Given the description of an element on the screen output the (x, y) to click on. 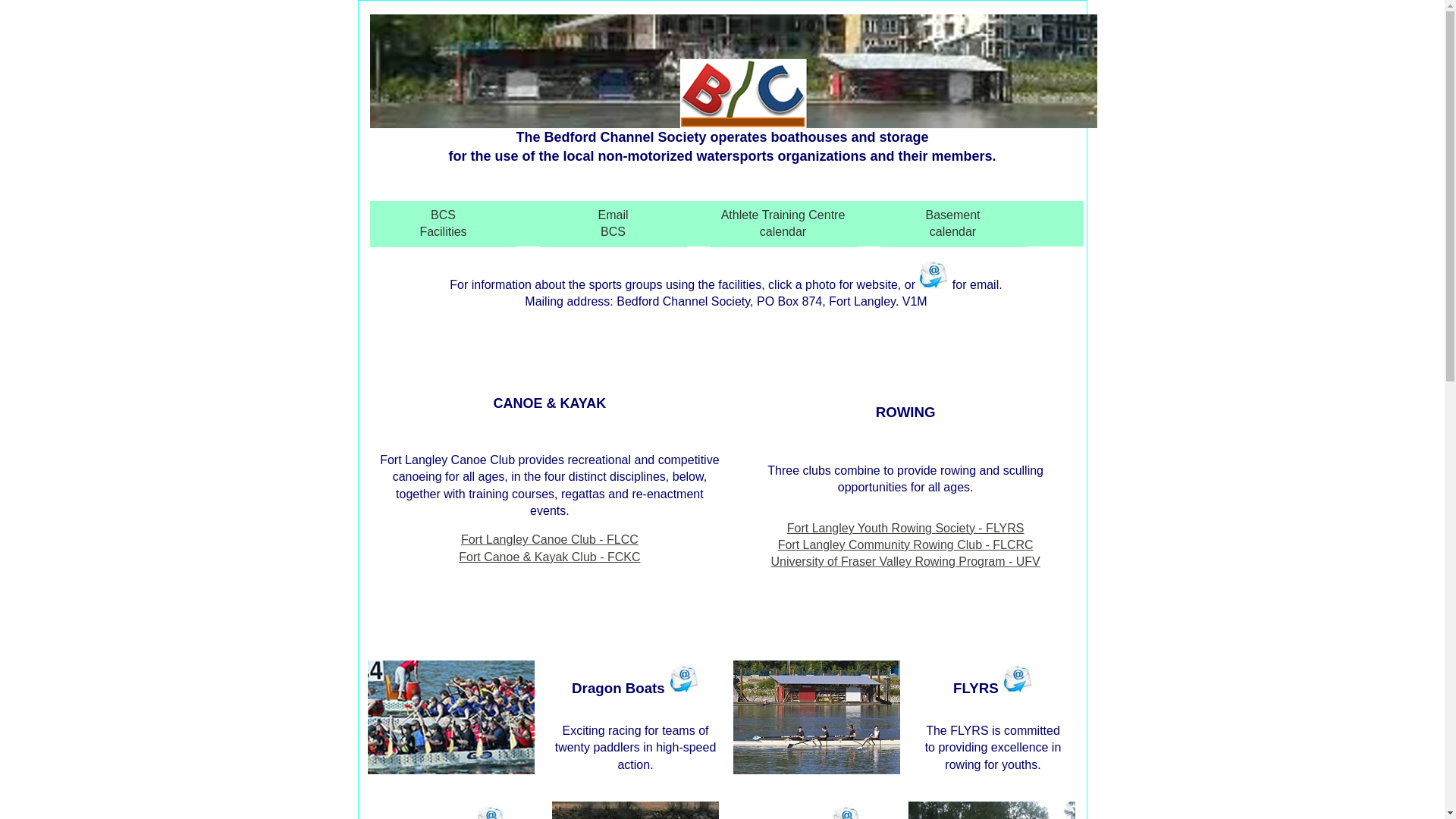
University of Fraser Valley Rowing Program - UFV Element type: text (904, 561)
Fort Langley Community Rowing Club - FLCRC Element type: text (905, 544)
BCS
Facilities Element type: text (443, 223)
Email
BCS Element type: text (613, 223)
Fort Langley Canoe Club - FLCC Element type: text (549, 539)
Fort Canoe & Kayak Club - FCKC Element type: text (549, 556)
Athlete Training Centre calendar Element type: text (782, 223)
Basement
calendar Element type: text (952, 223)
Fort Langley Youth Rowing Society - FLYRS Element type: text (905, 527)
